Given the description of an element on the screen output the (x, y) to click on. 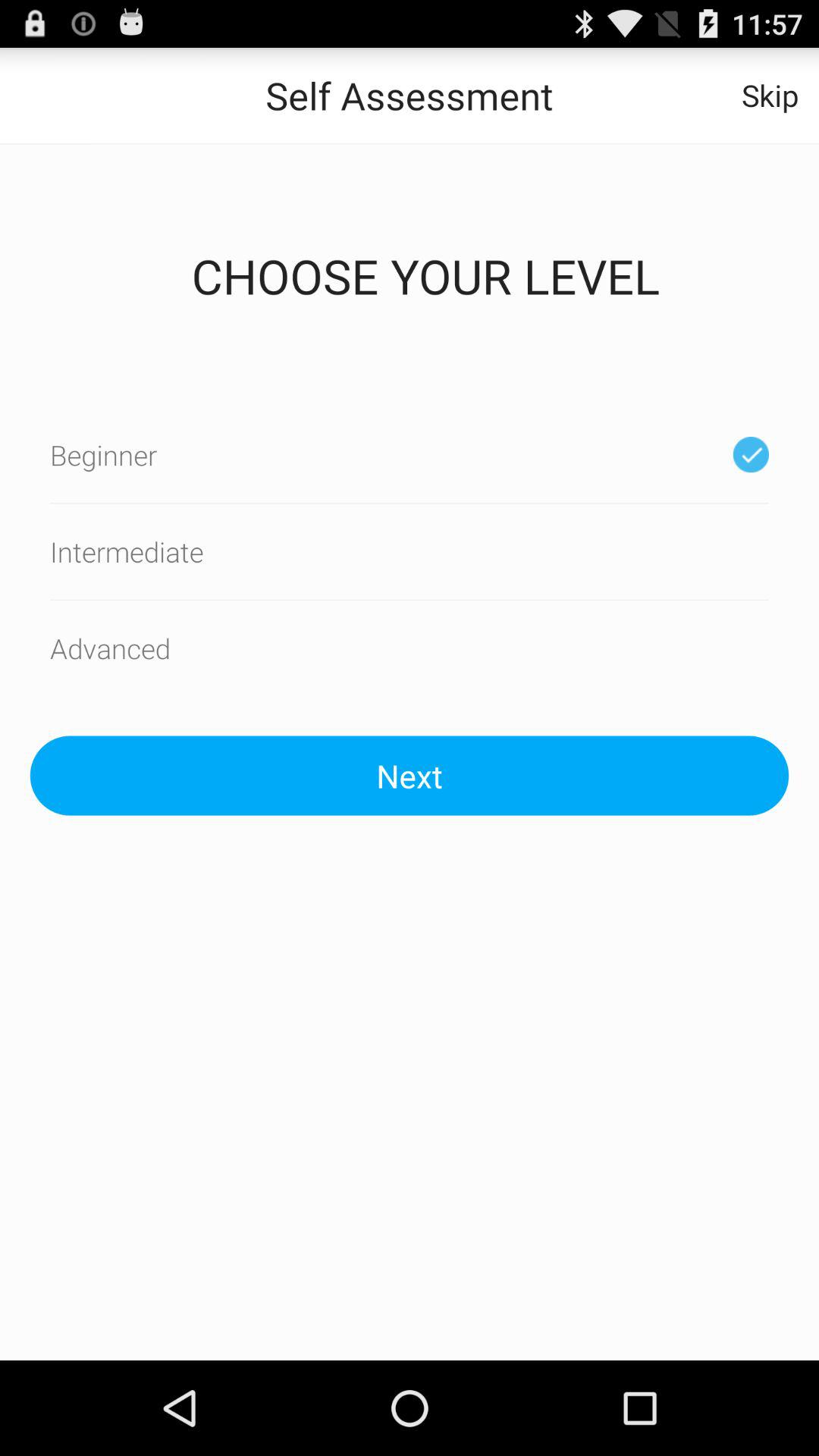
flip to the next button (409, 775)
